Given the description of an element on the screen output the (x, y) to click on. 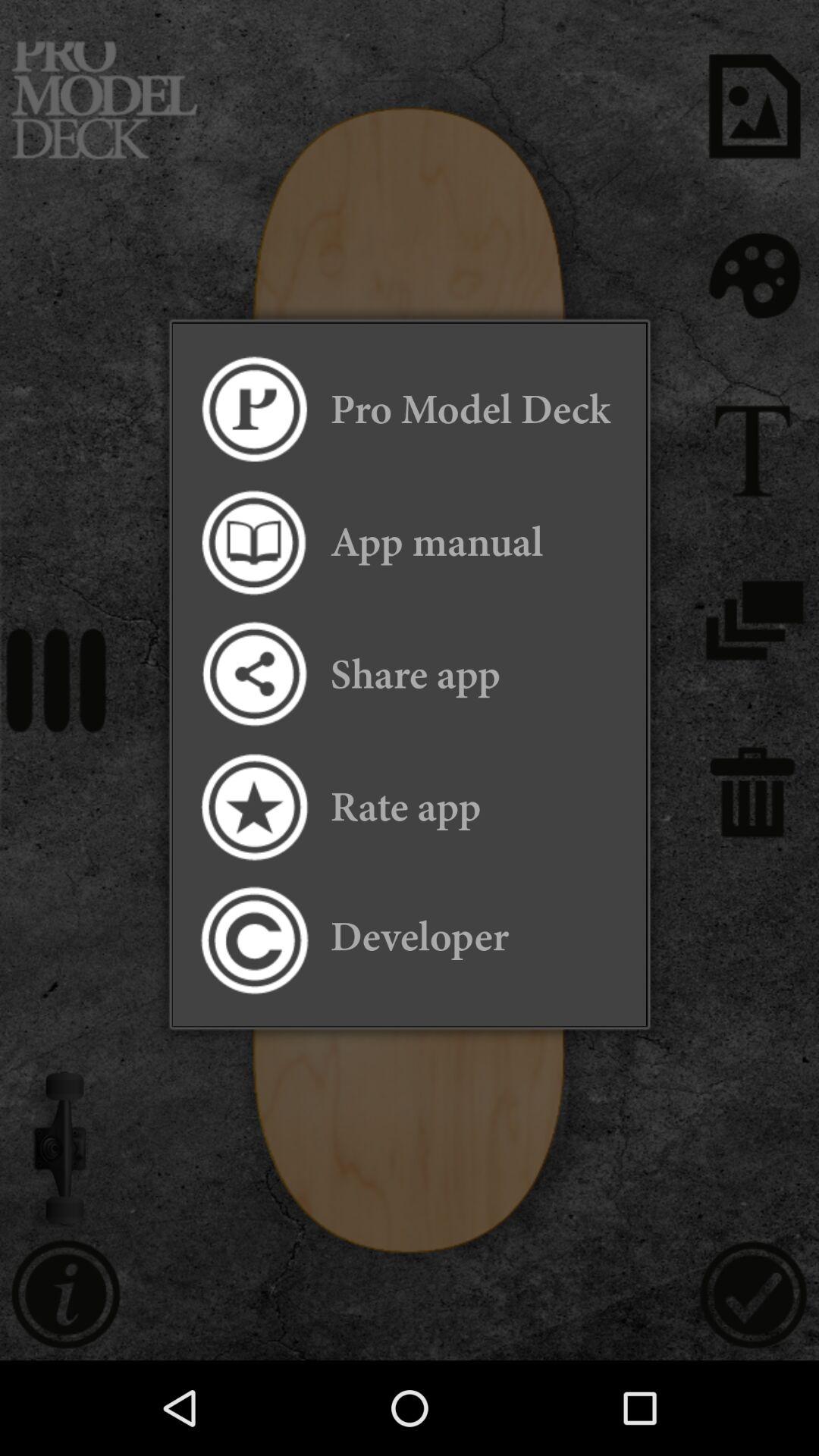
select menu option (253, 409)
